Given the description of an element on the screen output the (x, y) to click on. 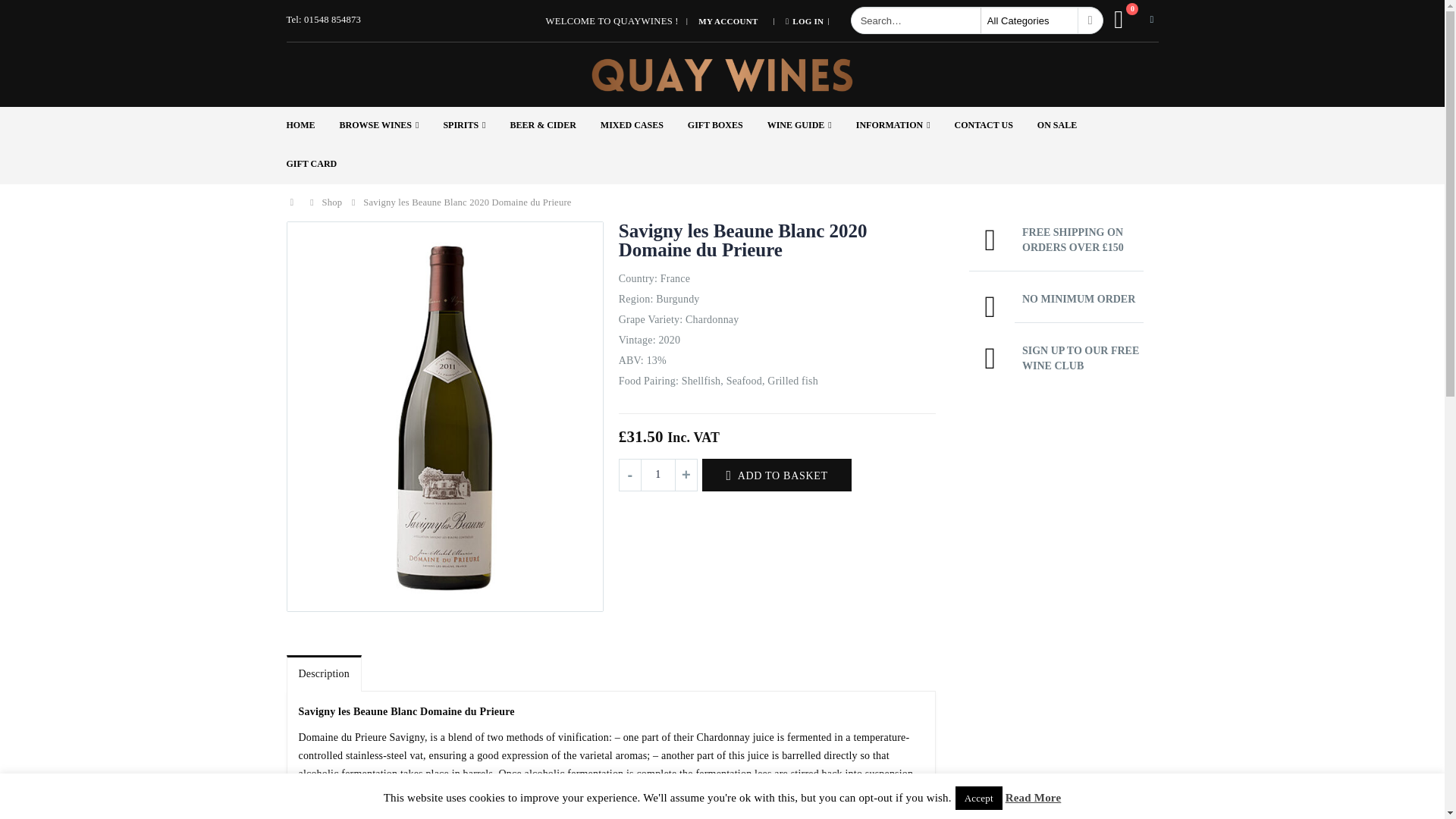
Search (1090, 20)
MY ACCOUNT (727, 21)
HOME (311, 126)
SPIRITS (475, 126)
Qty (658, 474)
Quay Wines -  (722, 74)
BROWSE WINES (390, 126)
LOG IN (799, 21)
1 (658, 474)
